Given the description of an element on the screen output the (x, y) to click on. 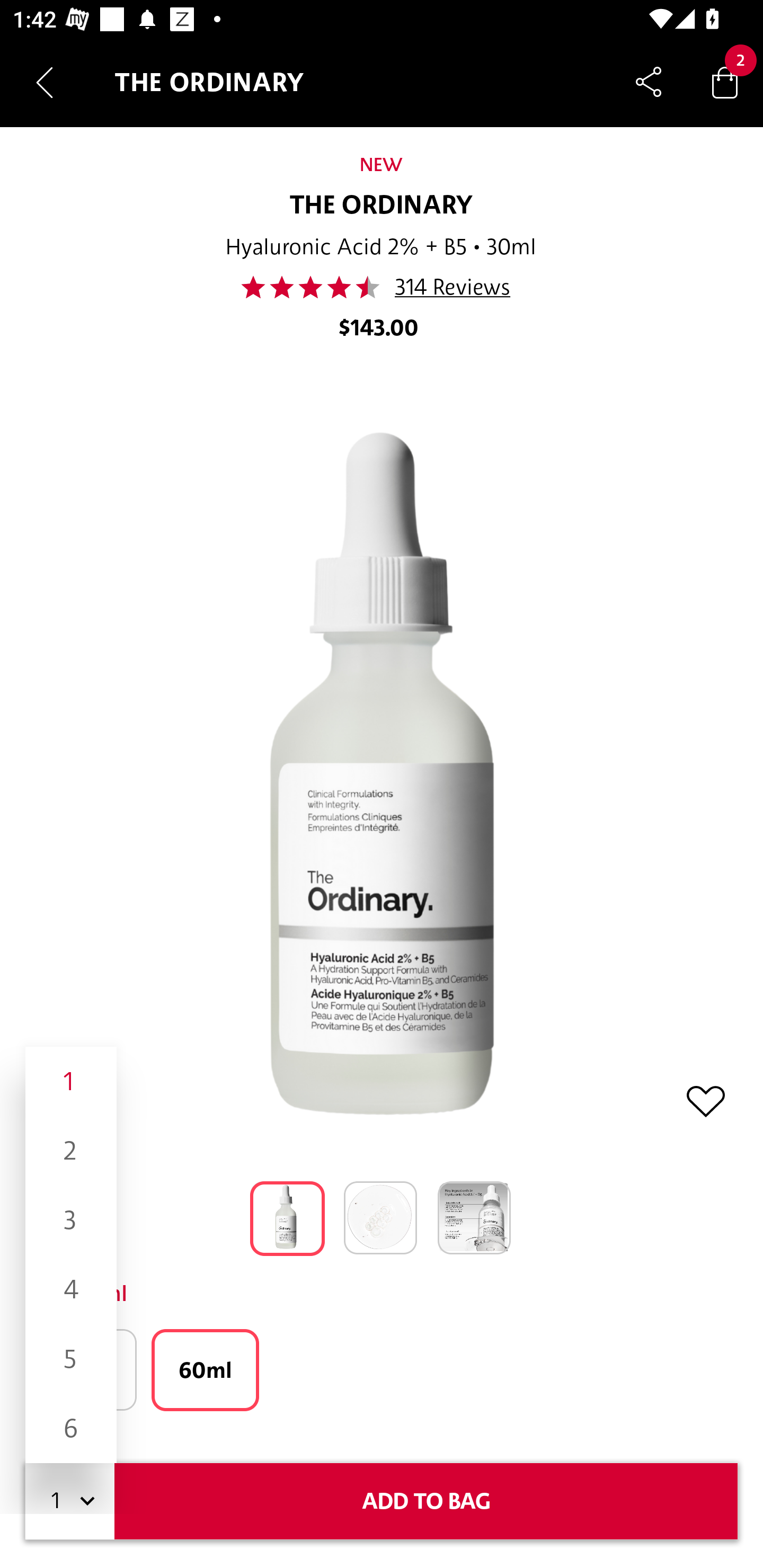
1 (70, 1081)
2 (70, 1150)
3 (70, 1219)
4 (70, 1289)
5 (70, 1358)
6 (70, 1427)
